Given the description of an element on the screen output the (x, y) to click on. 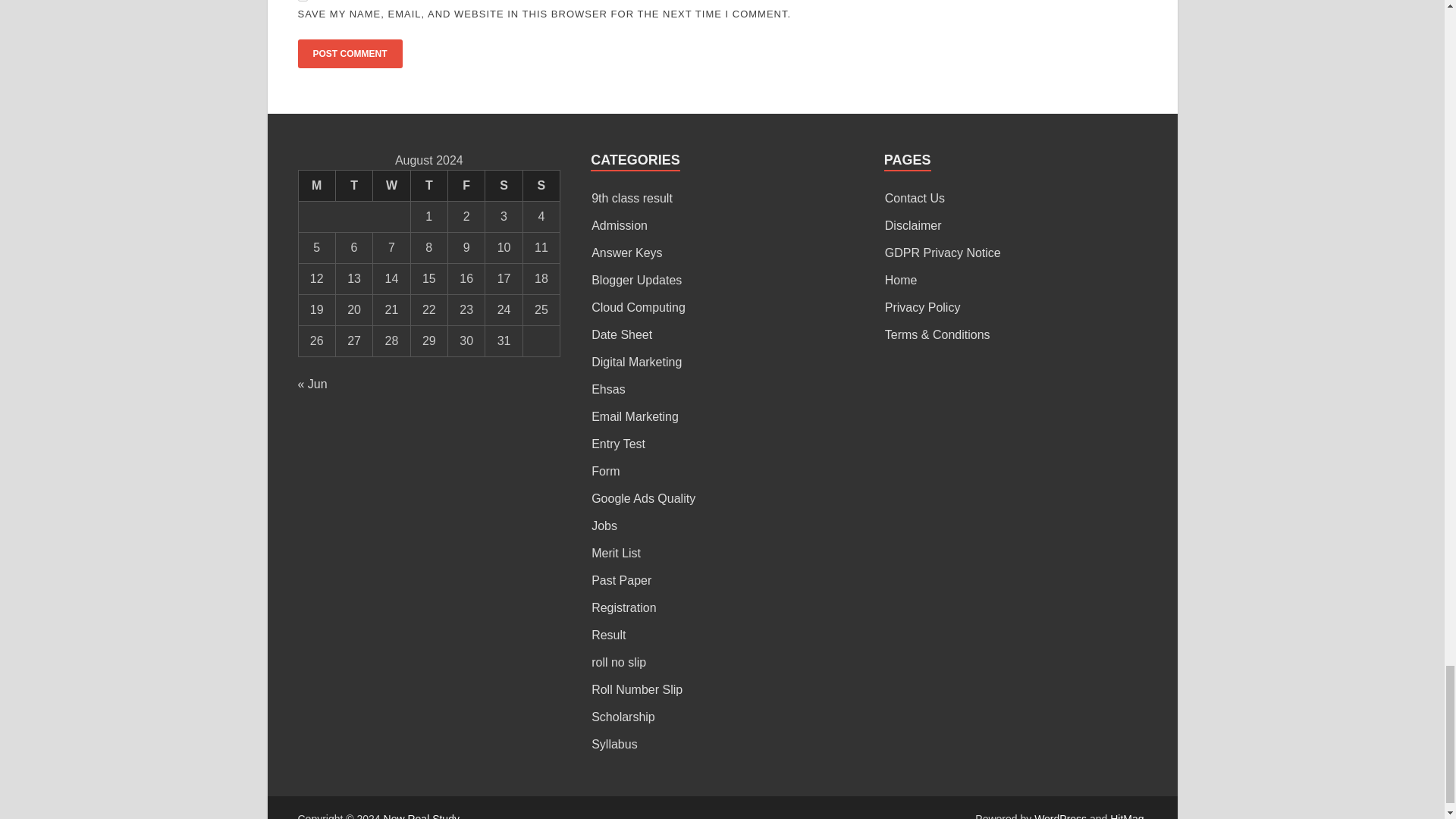
Tuesday (353, 185)
Monday (316, 185)
Thursday (428, 185)
Post Comment (349, 53)
Post Comment (349, 53)
Wednesday (391, 185)
Friday (465, 185)
